Given the description of an element on the screen output the (x, y) to click on. 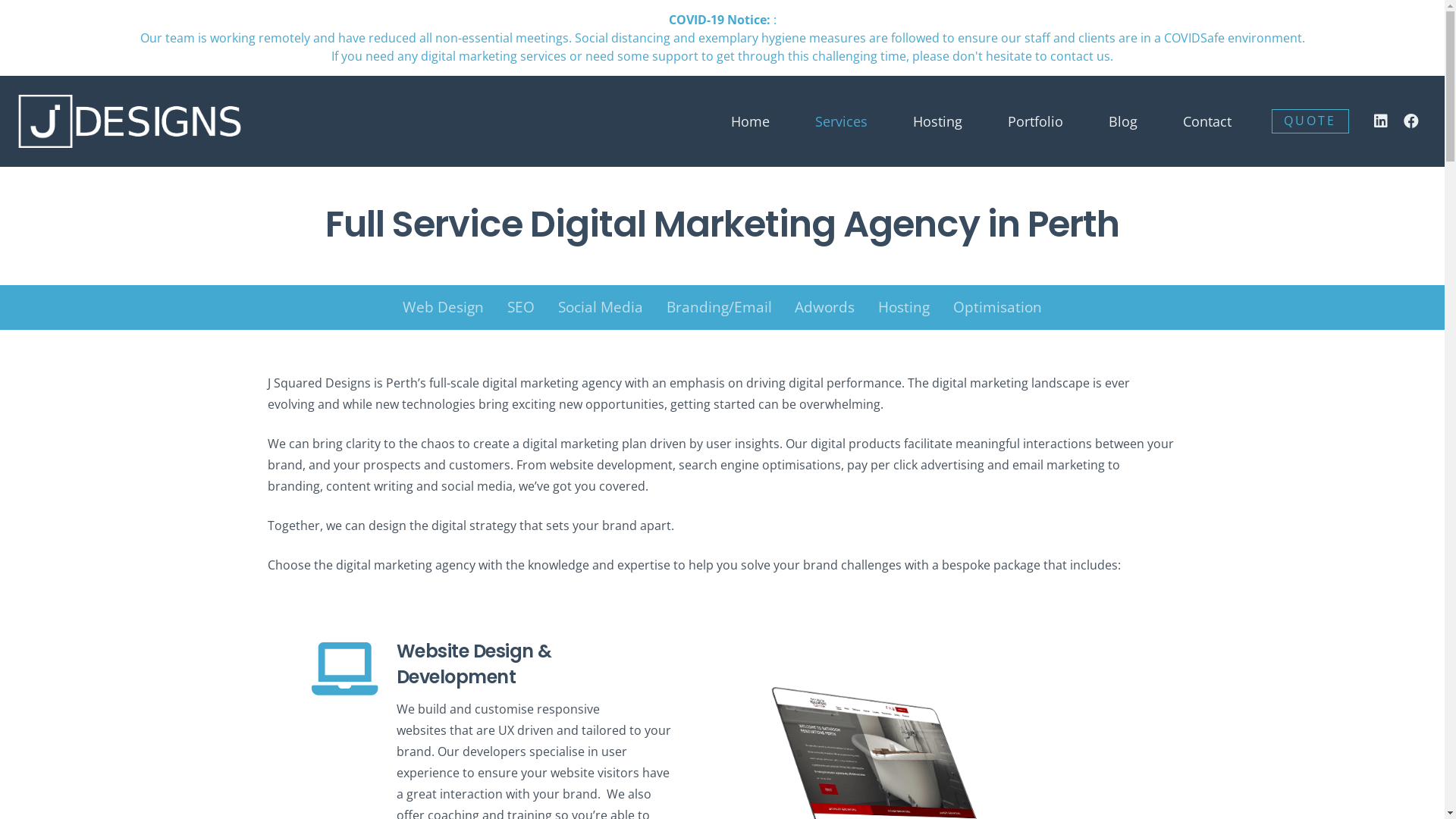
Hosting Element type: text (937, 120)
Services Element type: text (841, 120)
Branding/Email Element type: text (718, 307)
Web Design Element type: text (443, 307)
SEO Element type: text (520, 307)
contact us Element type: text (1080, 55)
Home Element type: text (750, 120)
Contact Element type: text (1207, 120)
QUOTE Element type: text (1310, 121)
Blog Element type: text (1122, 120)
LinkedIn Element type: hover (1380, 121)
Hosting Element type: text (903, 307)
Facebook Element type: hover (1411, 121)
Adwords Element type: text (824, 307)
Social Media Element type: text (600, 307)
Portfolio Element type: text (1035, 120)
Optimisation Element type: text (997, 307)
